Given the description of an element on the screen output the (x, y) to click on. 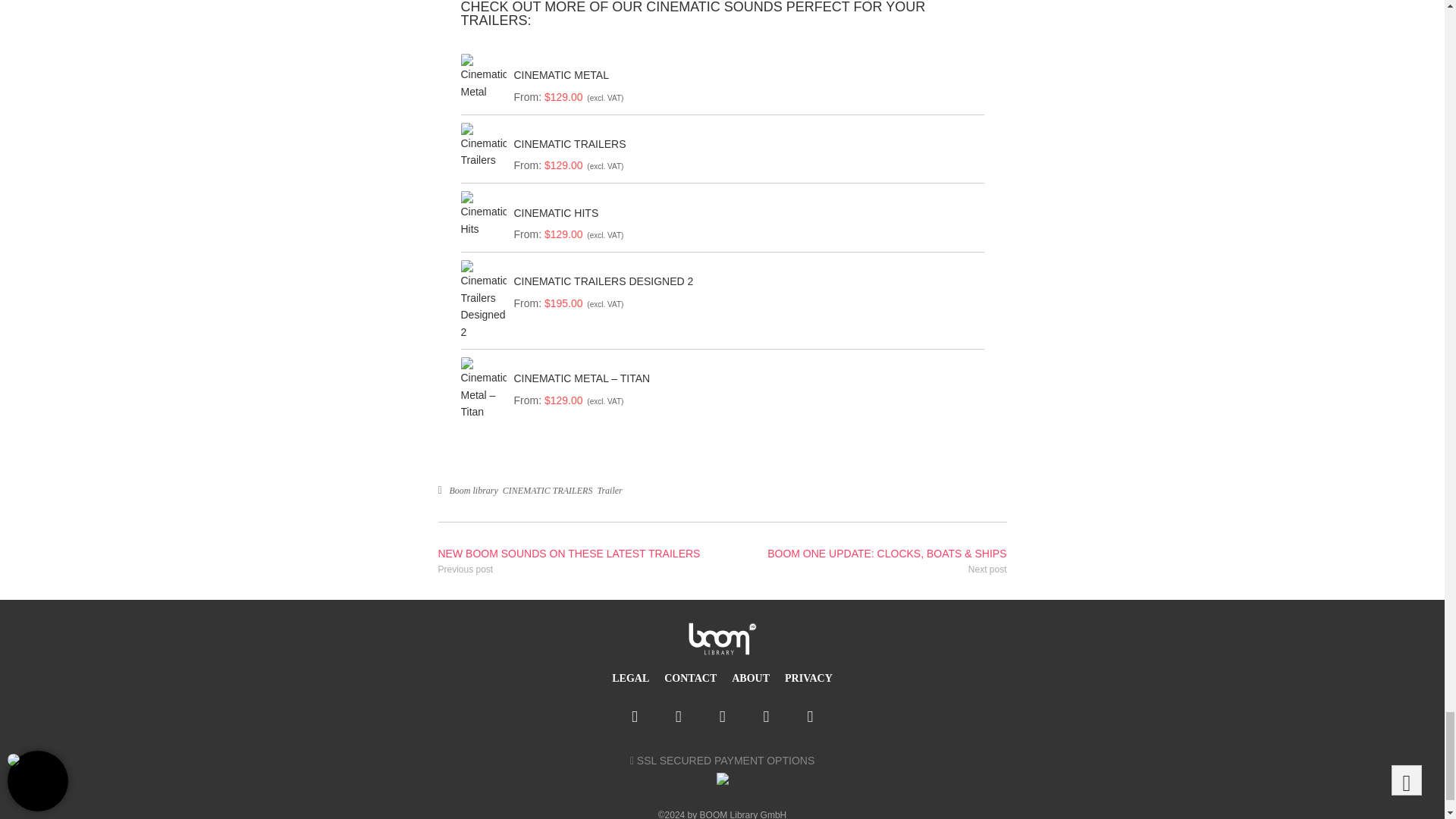
CINEMATIC HITS (744, 213)
CINEMATIC TRAILERS (744, 143)
CINEMATIC TRAILERS DESIGNED 2 (744, 281)
CINEMATIC METAL (744, 74)
